Given the description of an element on the screen output the (x, y) to click on. 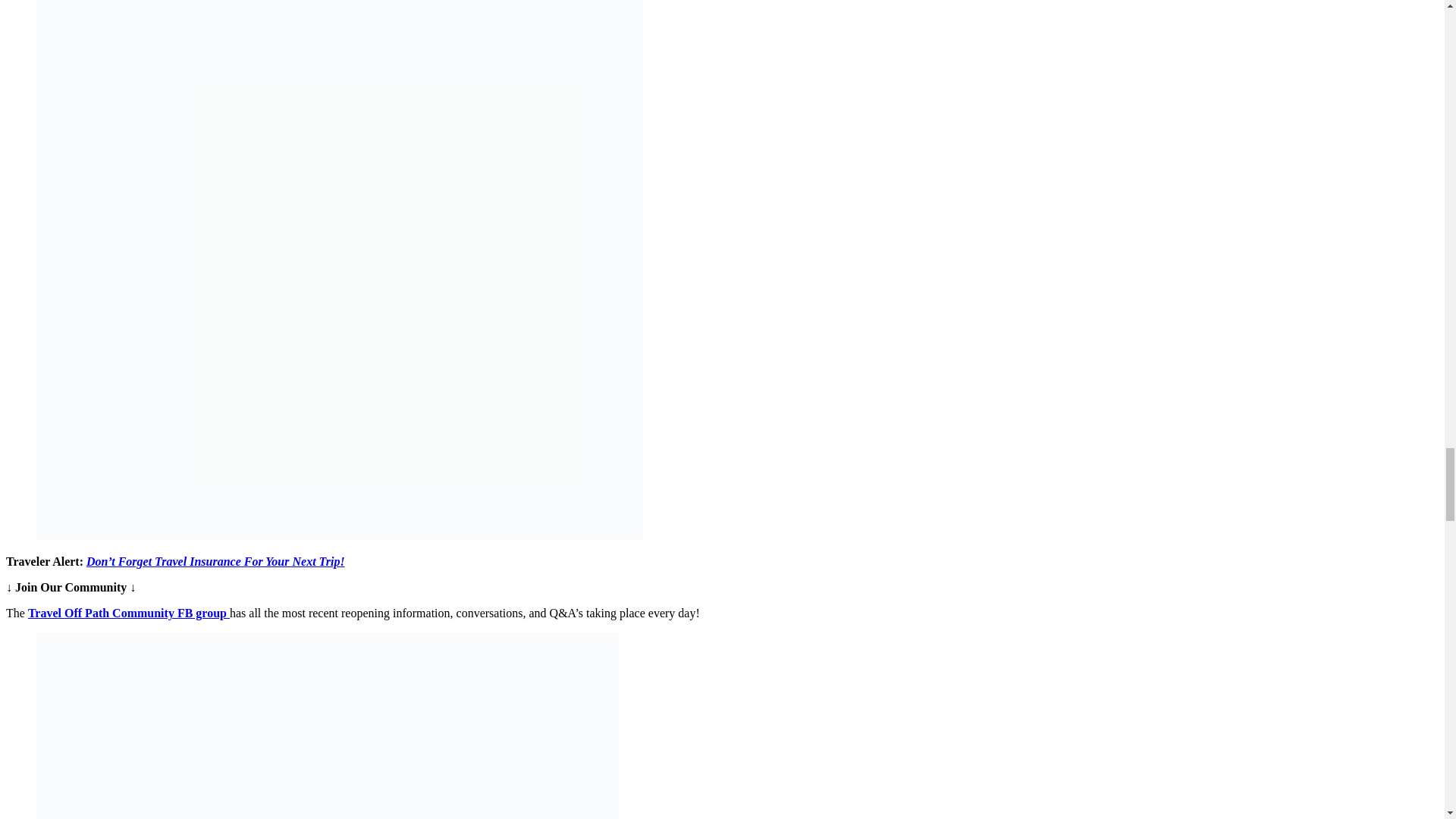
Travel Off Path Community FB group  (128, 612)
